Given the description of an element on the screen output the (x, y) to click on. 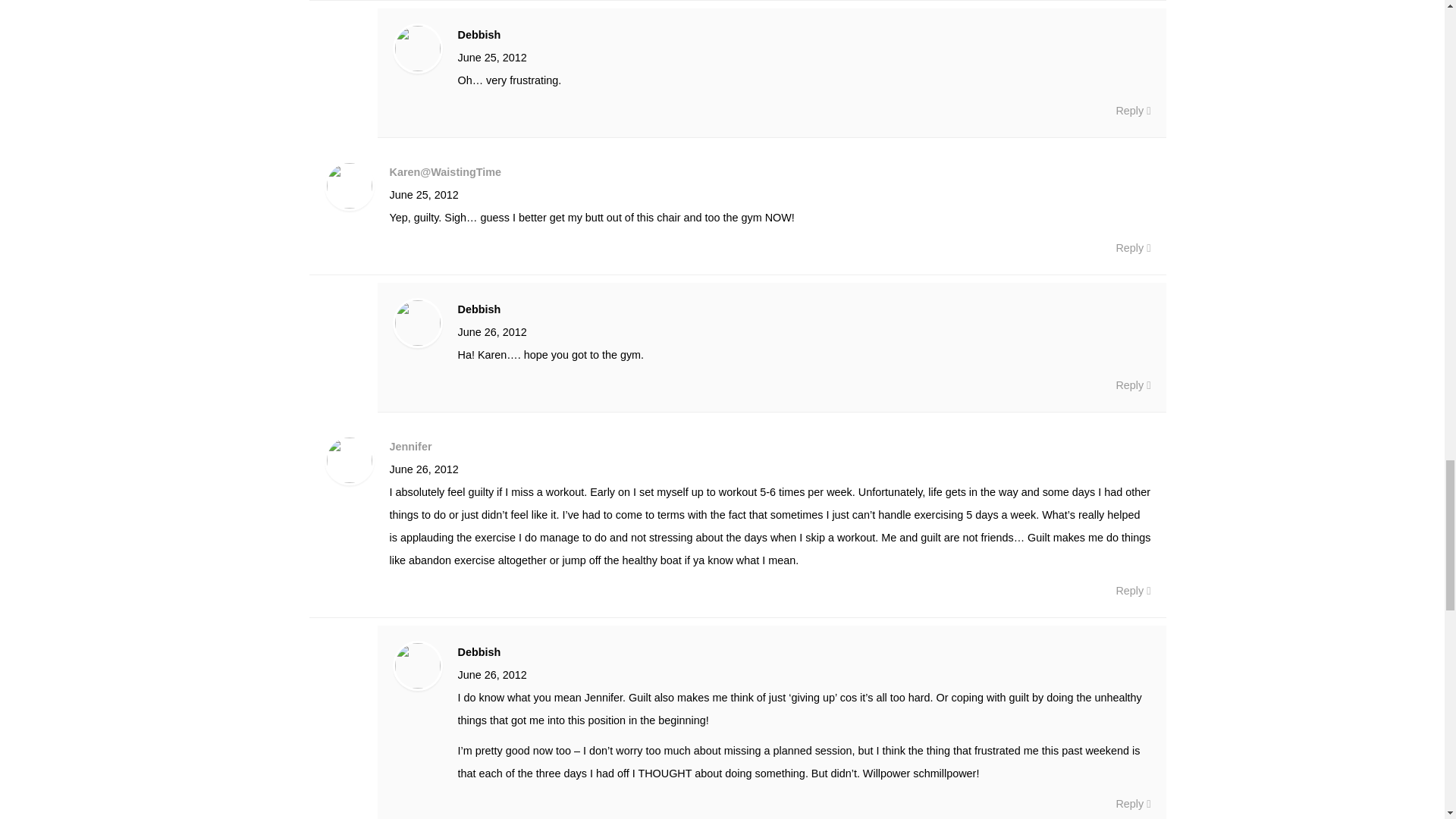
Jennifer (411, 446)
Reply (1132, 384)
Reply (1132, 110)
Reply (1132, 803)
Reply (1132, 247)
Reply (1132, 590)
